Given the description of an element on the screen output the (x, y) to click on. 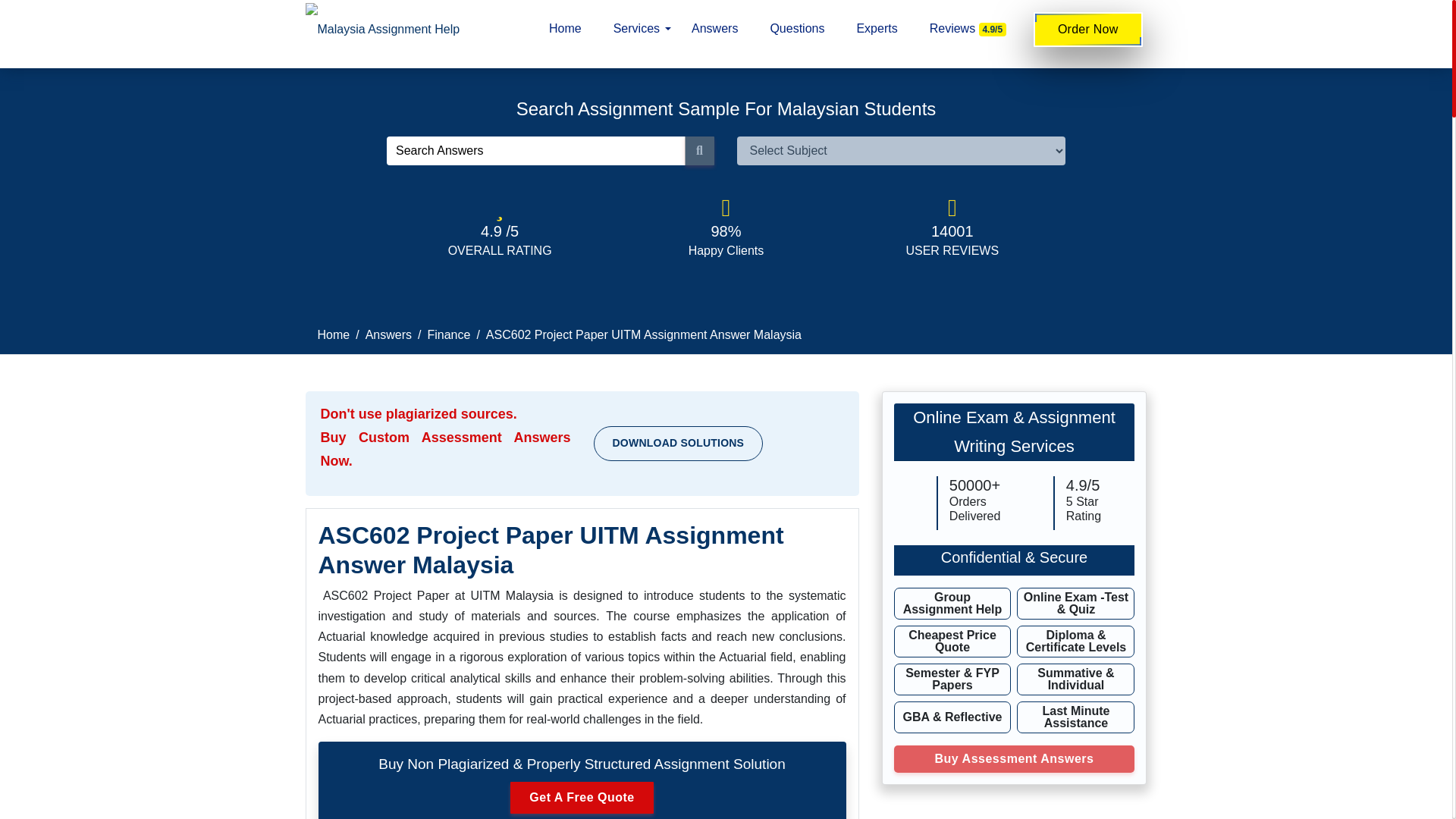
Get A Free Quote (581, 798)
Home (333, 334)
Questions (796, 28)
Answers (388, 334)
Order Now (1087, 29)
Experts (876, 28)
Finance (448, 334)
Answers (714, 28)
Services (636, 28)
